Given the description of an element on the screen output the (x, y) to click on. 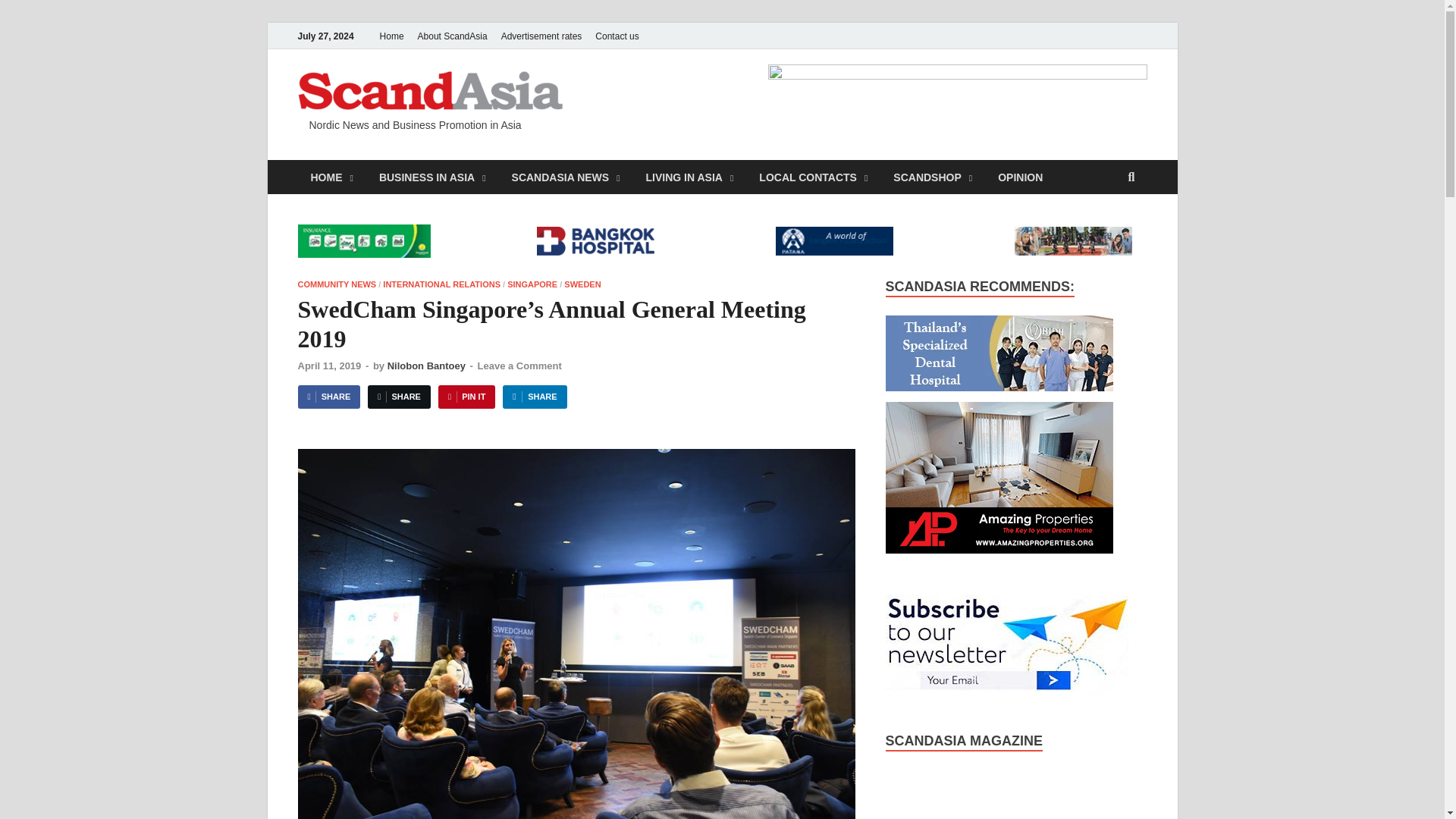
Advertisement rates (542, 35)
About ScandAsia (452, 35)
HOME (331, 176)
Home (391, 35)
Contact us (616, 35)
BUSINESS IN ASIA (432, 176)
